Given the description of an element on the screen output the (x, y) to click on. 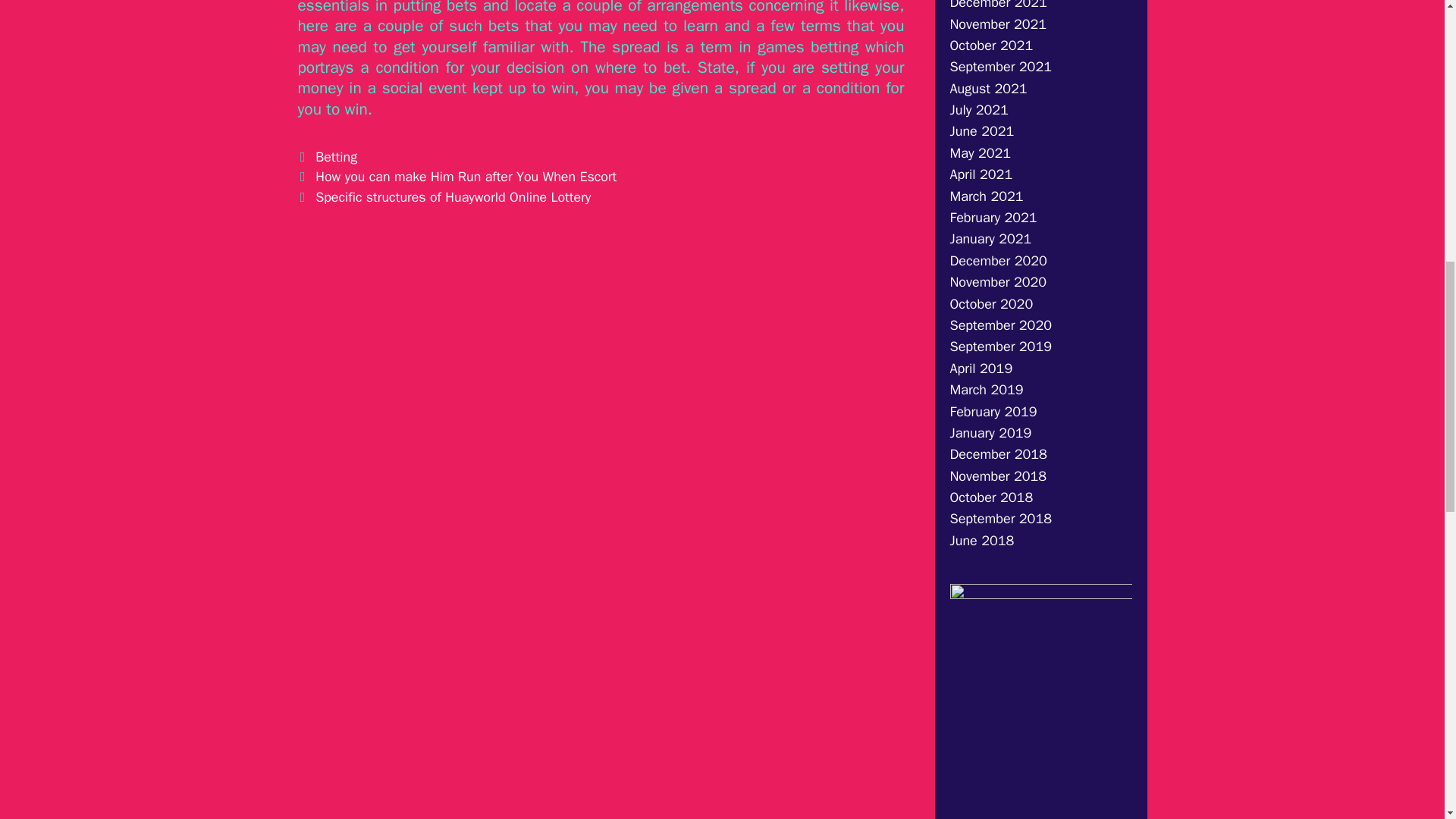
Specific structures of Huayworld Online Lottery (453, 197)
Betting (335, 156)
How you can make Him Run after You When Escort (465, 176)
Previous (456, 176)
Next (444, 197)
